Given the description of an element on the screen output the (x, y) to click on. 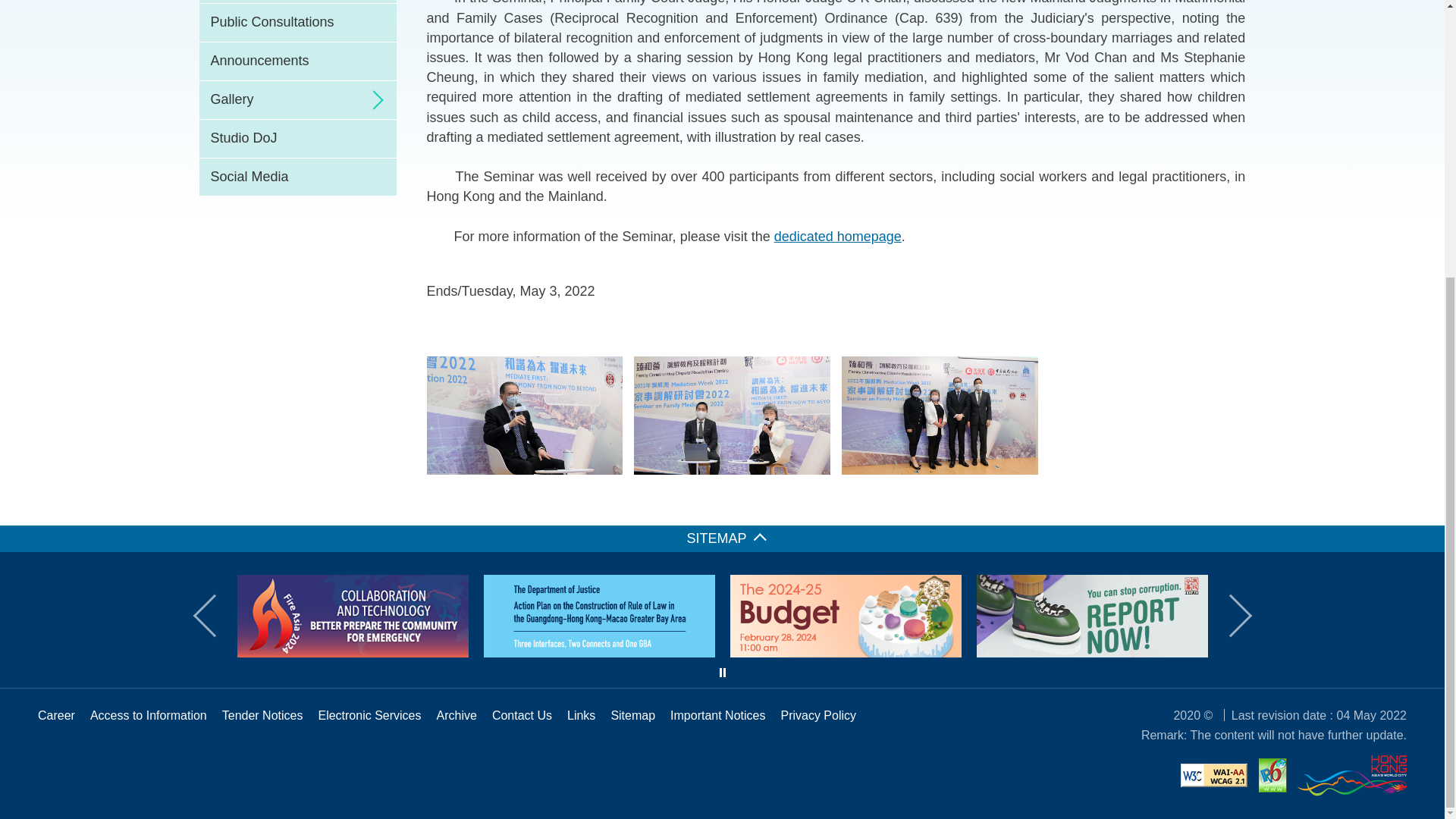
Speeches, Articles and Letters (297, 2)
